Given the description of an element on the screen output the (x, y) to click on. 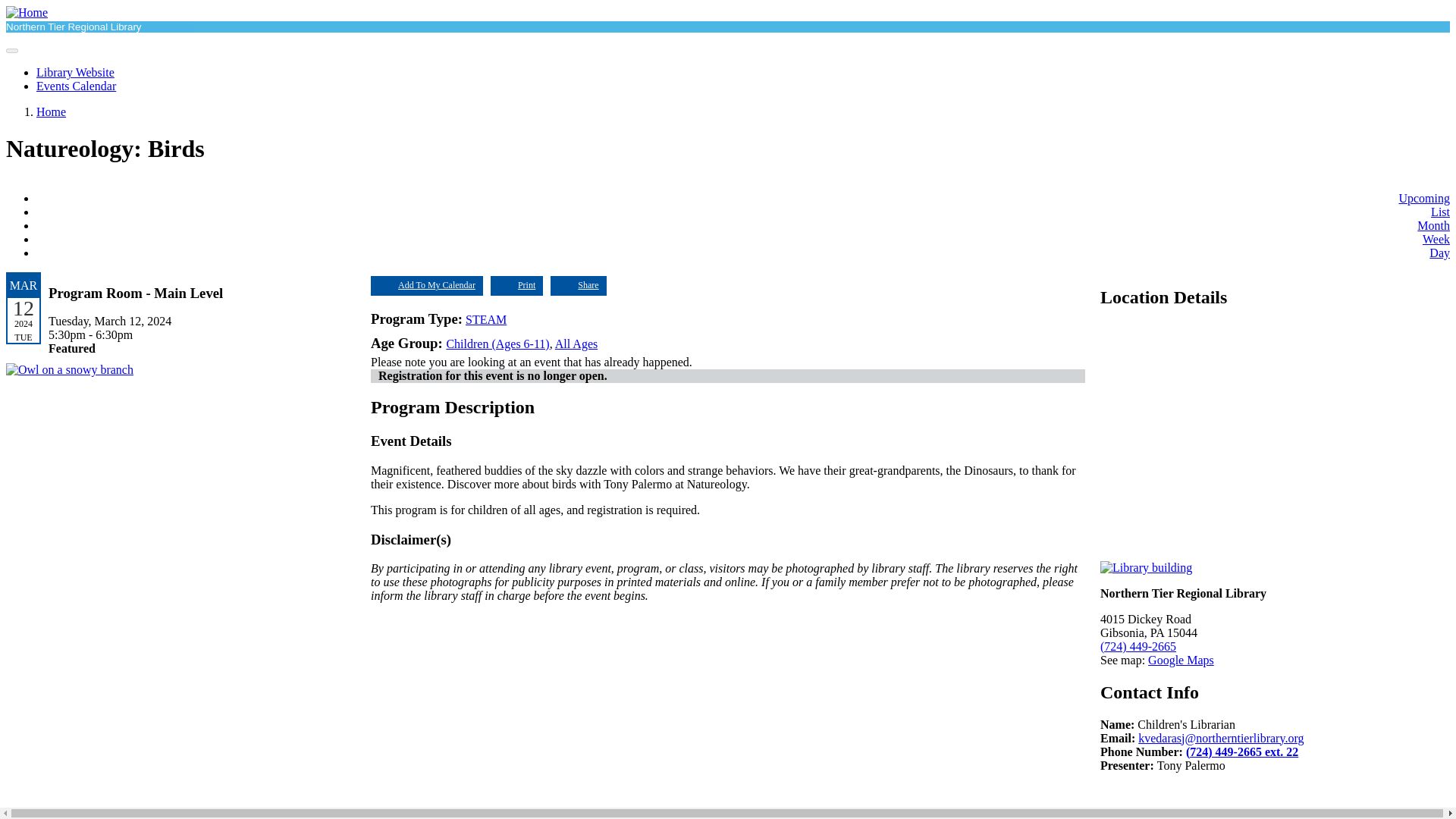
Toggle Navigation (11, 50)
Events Calendar (76, 85)
Day (1439, 252)
List (1440, 211)
Google Maps (1181, 659)
Share this event (577, 285)
Add To My Calendar (427, 285)
Library Website (75, 72)
Month (1433, 225)
Home (26, 11)
